Given the description of an element on the screen output the (x, y) to click on. 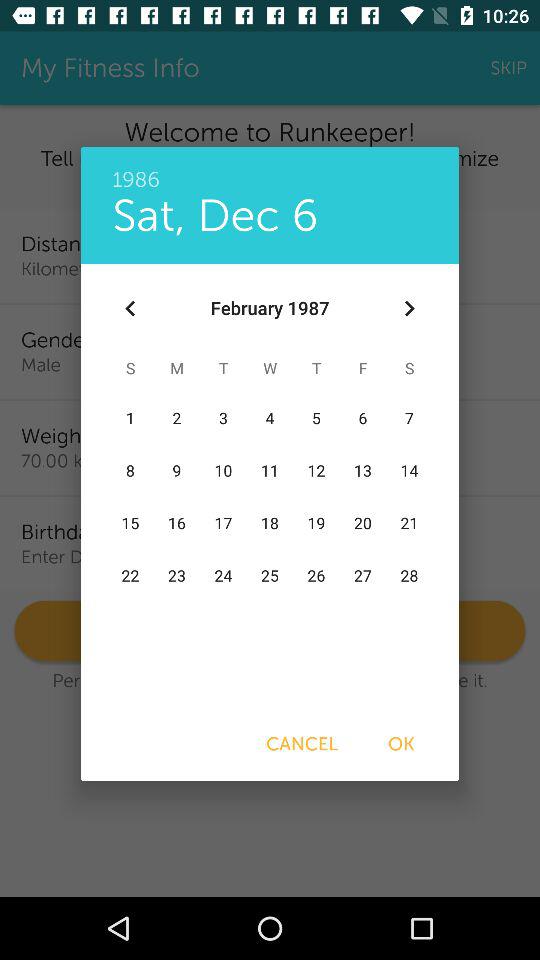
scroll to the sat, dec 6 (215, 215)
